Given the description of an element on the screen output the (x, y) to click on. 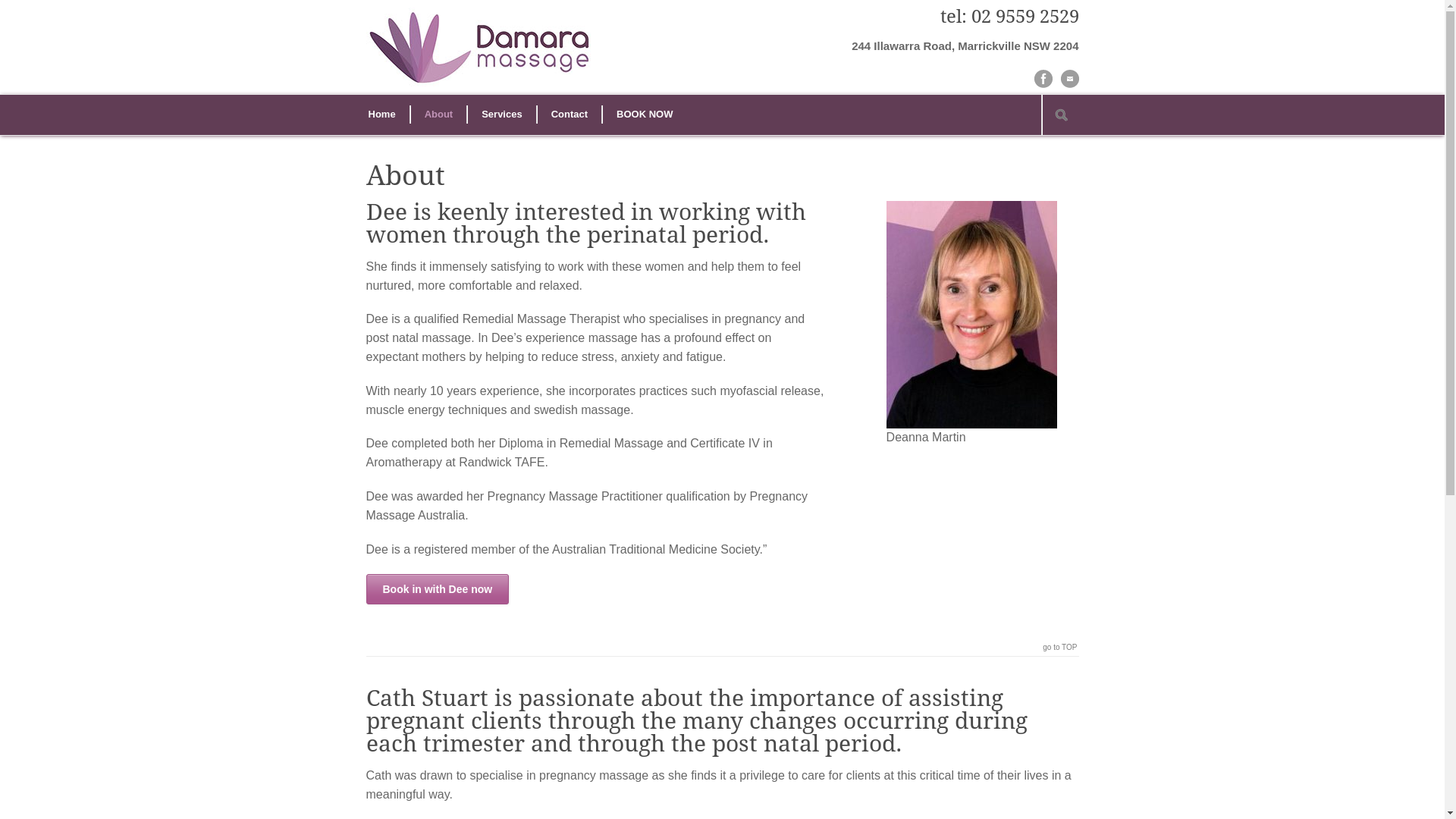
Services Element type: text (501, 114)
Contact Element type: text (569, 114)
About Element type: text (438, 114)
BOOK NOW Element type: text (644, 114)
Book in with Dee now Element type: text (436, 589)
Home Element type: text (382, 114)
